Given the description of an element on the screen output the (x, y) to click on. 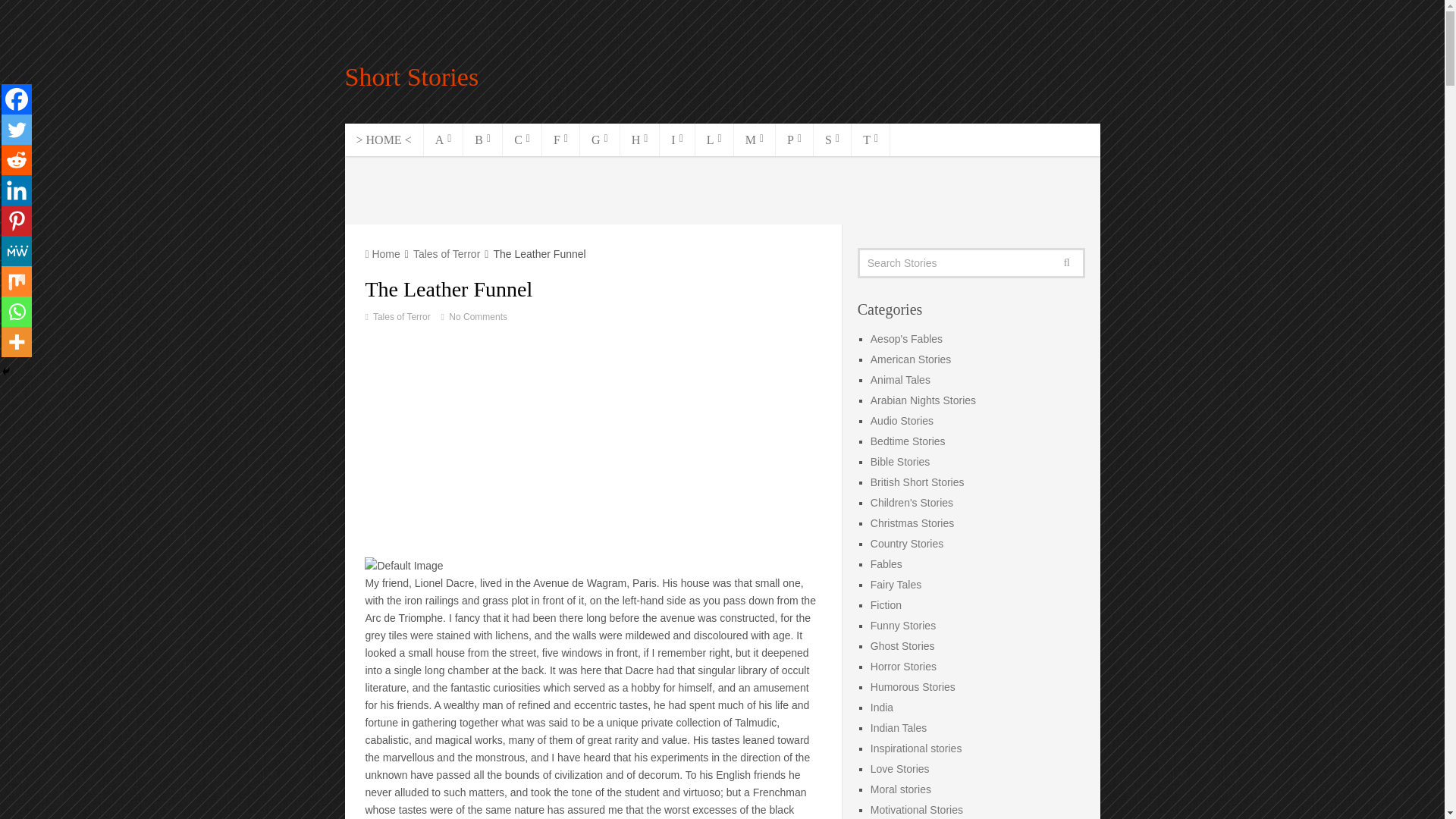
Facebook (16, 99)
L (714, 139)
G (599, 139)
M (754, 139)
H (640, 139)
Short Stories (411, 76)
Twitter (16, 129)
Advertisement (722, 190)
B (482, 139)
C (521, 139)
